Given the description of an element on the screen output the (x, y) to click on. 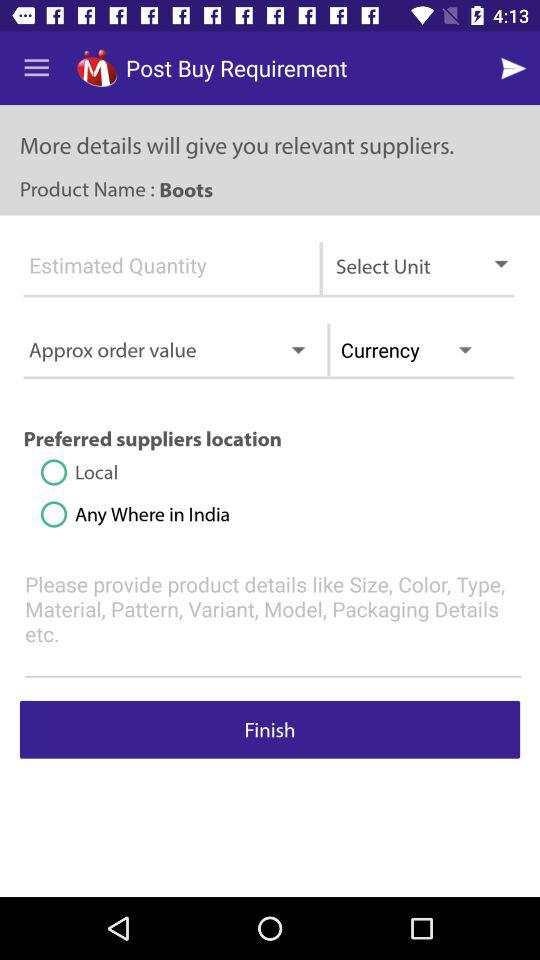
write in estimated quantity (159, 273)
